Given the description of an element on the screen output the (x, y) to click on. 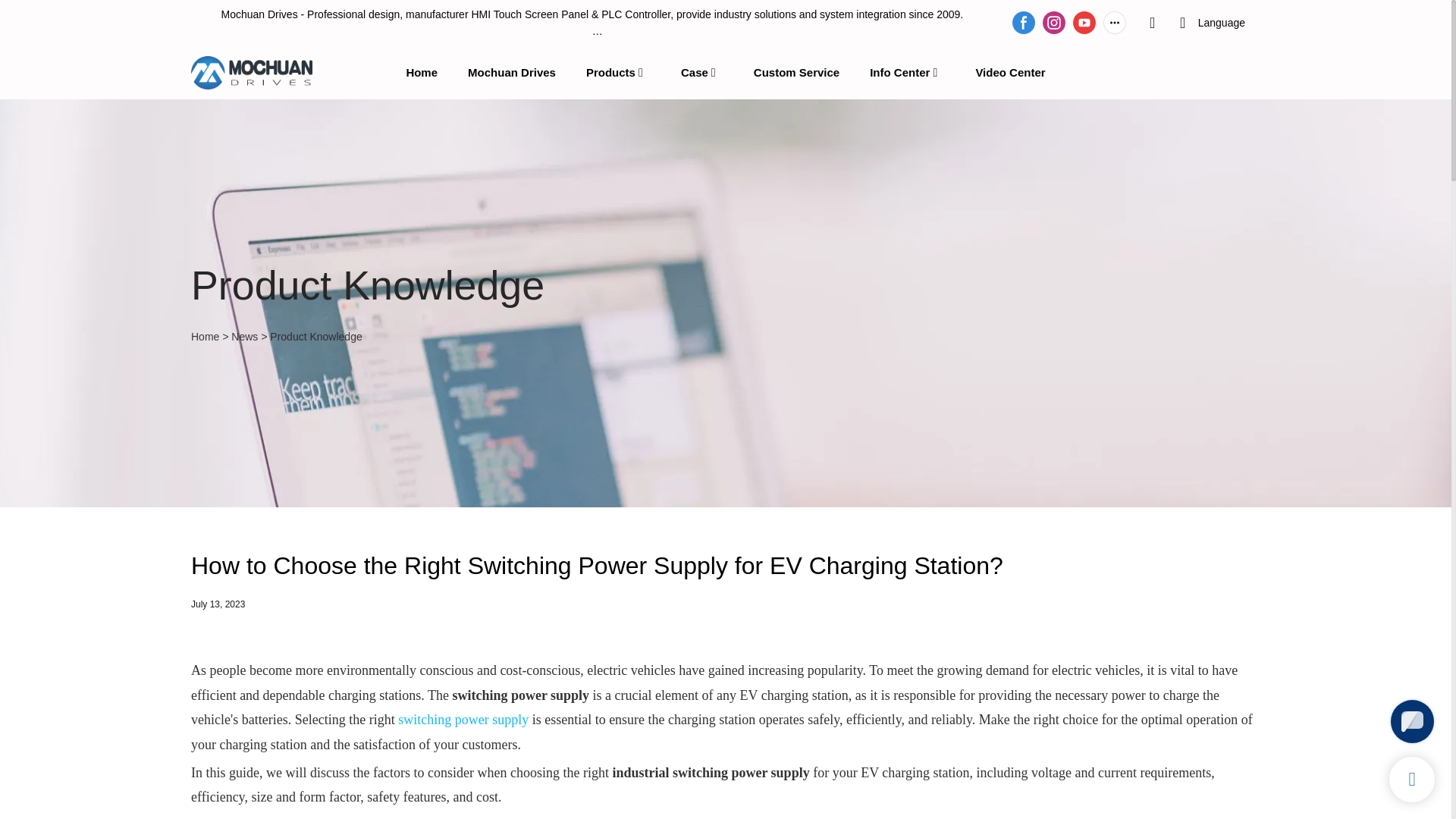
facebook (1024, 22)
instagram (1053, 22)
youtube (1083, 22)
Products (610, 72)
switching power supply (462, 719)
Mochuan Drives (511, 72)
